Given the description of an element on the screen output the (x, y) to click on. 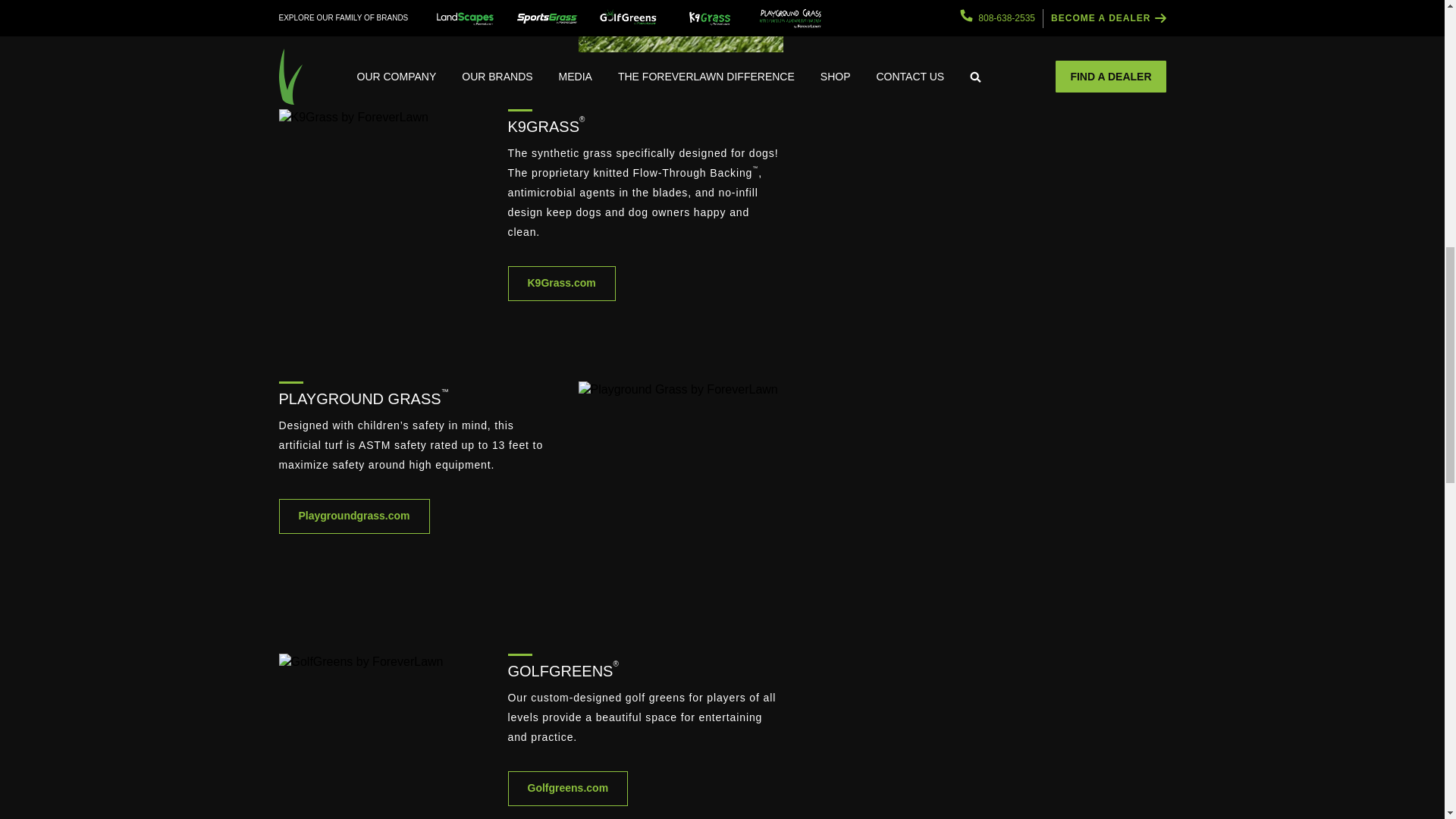
PlaygroundGrass01 (680, 489)
K9Grass03 (381, 216)
K9Grass.com (561, 283)
Golfgreens.com (568, 788)
Playgroundgrass.com (354, 515)
Landscape01 (680, 26)
GolfGreens02 (381, 736)
